Given the description of an element on the screen output the (x, y) to click on. 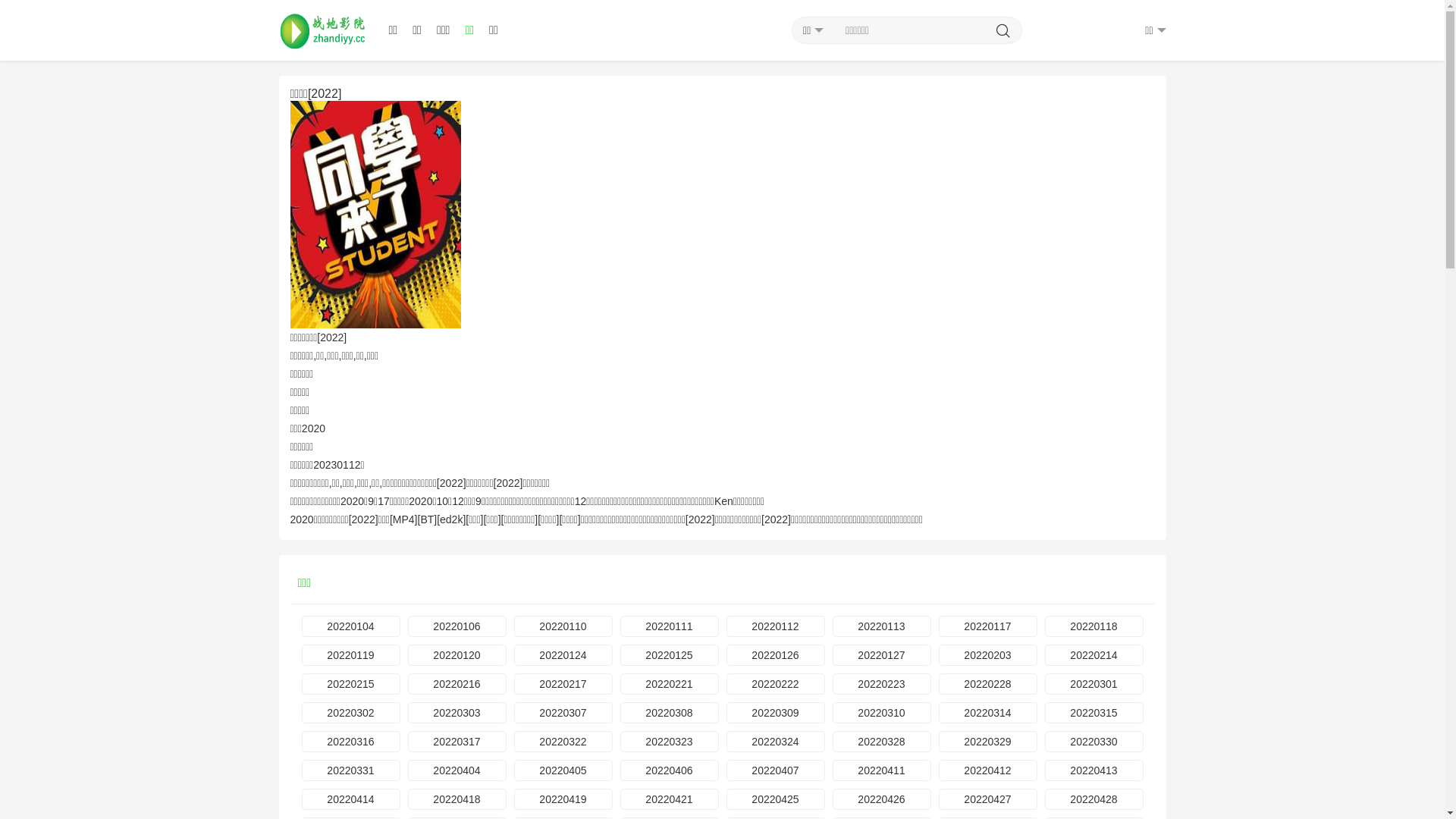
20220119 Element type: text (350, 654)
20220215 Element type: text (350, 683)
20220302 Element type: text (350, 712)
20220330 Element type: text (1093, 741)
20220413 Element type: text (1093, 770)
20220418 Element type: text (456, 798)
20220228 Element type: text (987, 683)
20220404 Element type: text (456, 770)
20220317 Element type: text (456, 741)
20220414 Element type: text (350, 798)
20220106 Element type: text (456, 626)
20220127 Element type: text (881, 654)
20220222 Element type: text (775, 683)
20220301 Element type: text (1093, 683)
20220419 Element type: text (563, 798)
20220125 Element type: text (669, 654)
20220110 Element type: text (563, 626)
20220411 Element type: text (881, 770)
20220104 Element type: text (350, 626)
20220214 Element type: text (1093, 654)
20220126 Element type: text (775, 654)
20220120 Element type: text (456, 654)
20220316 Element type: text (350, 741)
20220322 Element type: text (563, 741)
20220426 Element type: text (881, 798)
20220310 Element type: text (881, 712)
20220203 Element type: text (987, 654)
20220421 Element type: text (669, 798)
20220307 Element type: text (563, 712)
20220328 Element type: text (881, 741)
20220323 Element type: text (669, 741)
20220427 Element type: text (987, 798)
20220308 Element type: text (669, 712)
20220425 Element type: text (775, 798)
20220407 Element type: text (775, 770)
20220223 Element type: text (881, 683)
20220303 Element type: text (456, 712)
20220406 Element type: text (669, 770)
20220117 Element type: text (987, 626)
20220412 Element type: text (987, 770)
20220329 Element type: text (987, 741)
20220113 Element type: text (881, 626)
20220118 Element type: text (1093, 626)
20220315 Element type: text (1093, 712)
20220309 Element type: text (775, 712)
20220112 Element type: text (775, 626)
20220331 Element type: text (350, 770)
20220428 Element type: text (1093, 798)
20220216 Element type: text (456, 683)
20220324 Element type: text (775, 741)
20220314 Element type: text (987, 712)
20220124 Element type: text (563, 654)
20220217 Element type: text (563, 683)
20220221 Element type: text (669, 683)
20220111 Element type: text (669, 626)
20220405 Element type: text (563, 770)
